Given the description of an element on the screen output the (x, y) to click on. 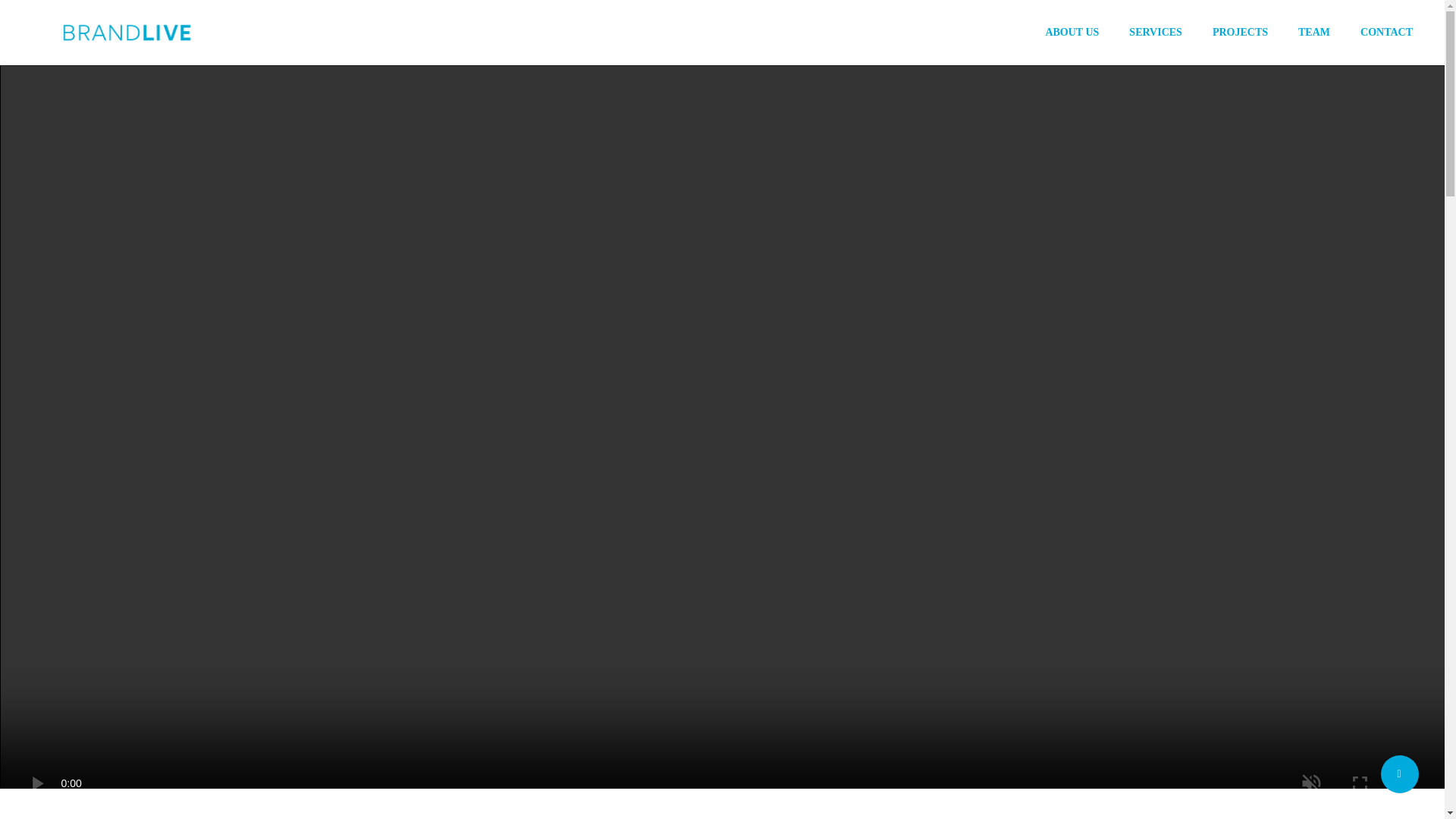
ABOUT US (1072, 32)
SERVICES (1155, 32)
TEAM (1314, 32)
PROJECTS (1240, 32)
CONTACT (1385, 32)
